Given the description of an element on the screen output the (x, y) to click on. 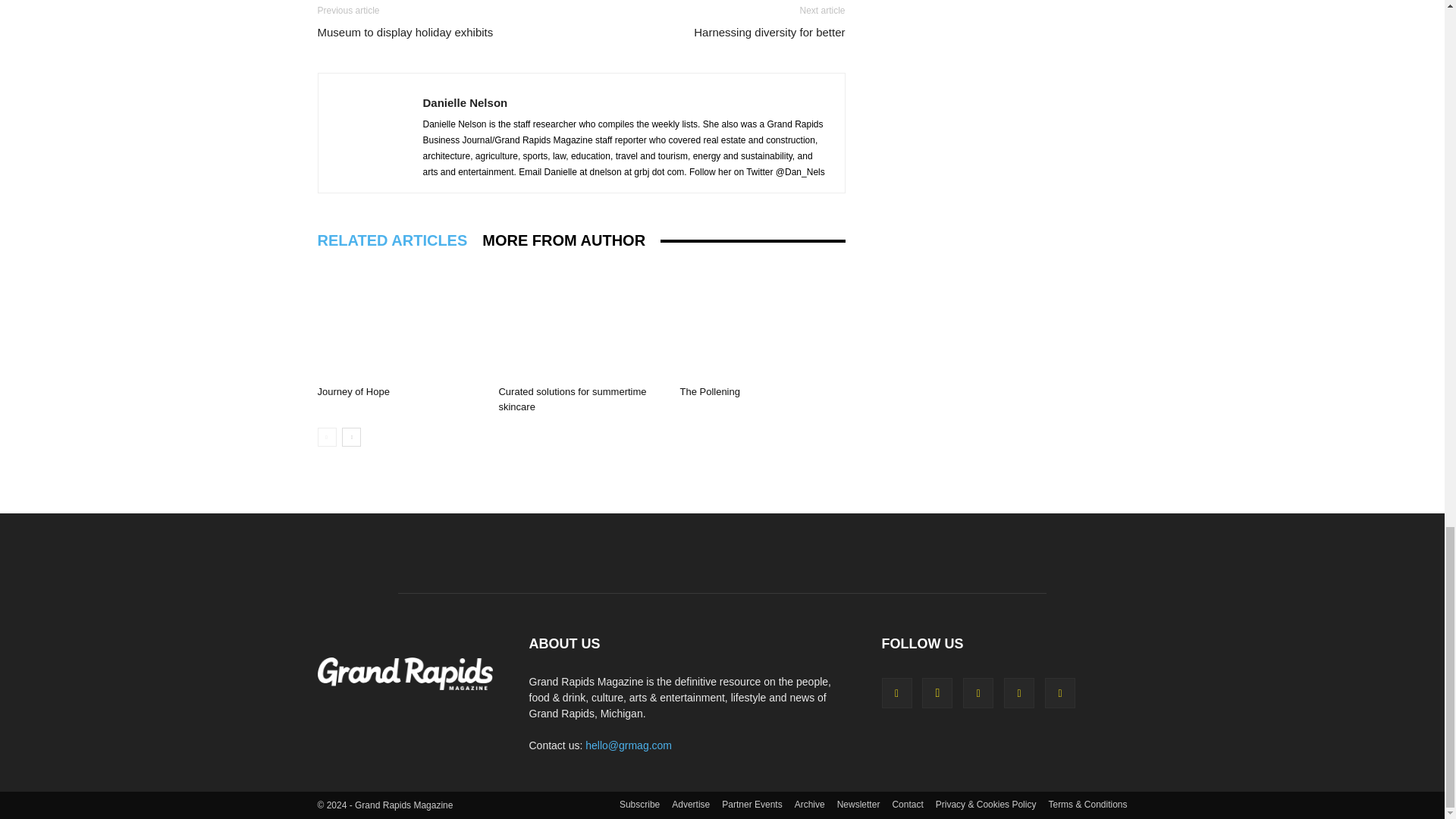
Journey of Hope (352, 391)
Curated solutions for summertime skincare (580, 322)
Journey of Hope (399, 322)
